Given the description of an element on the screen output the (x, y) to click on. 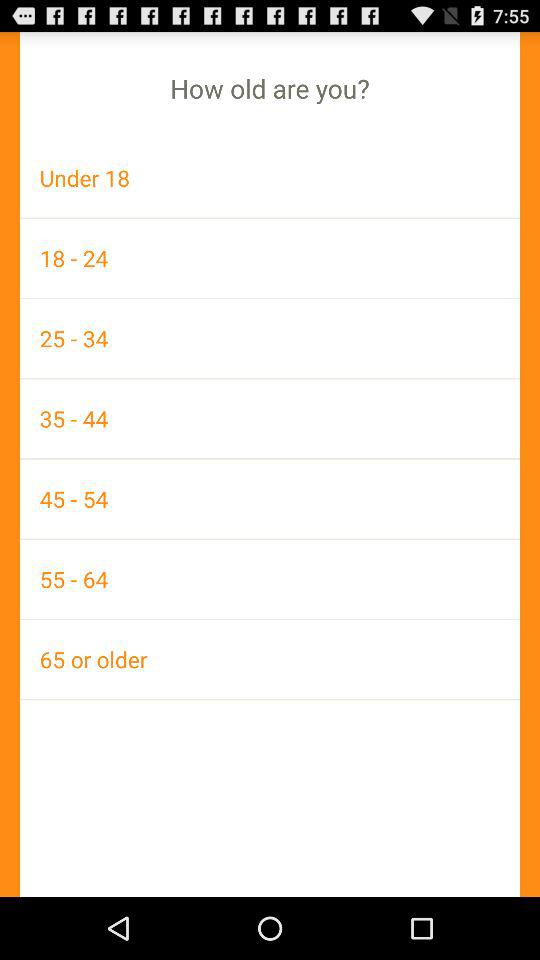
select the icon below under 18 (269, 258)
